Given the description of an element on the screen output the (x, y) to click on. 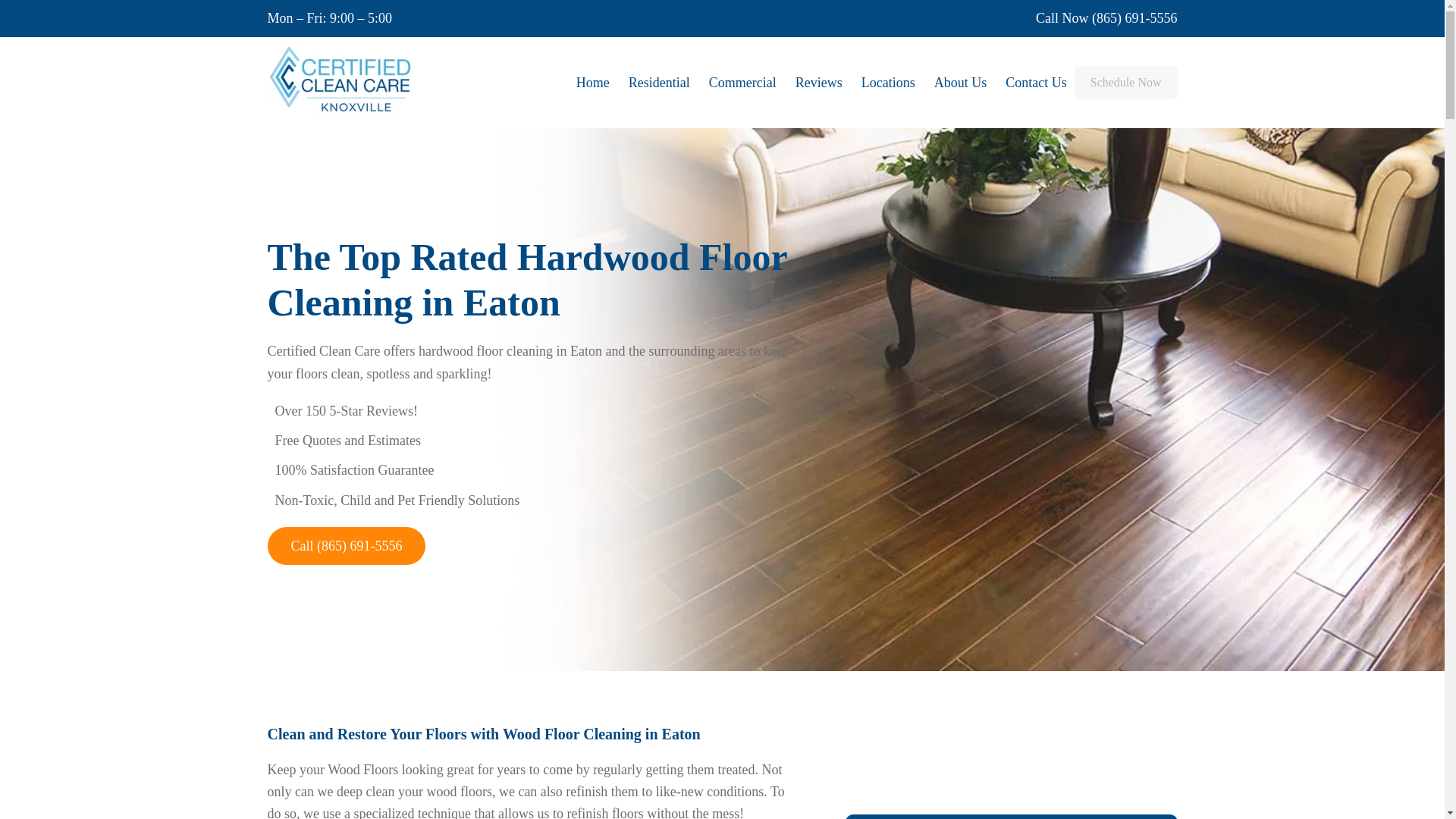
The Top Rated Hardwood Floor Cleaning in Eaton (529, 279)
